Given the description of an element on the screen output the (x, y) to click on. 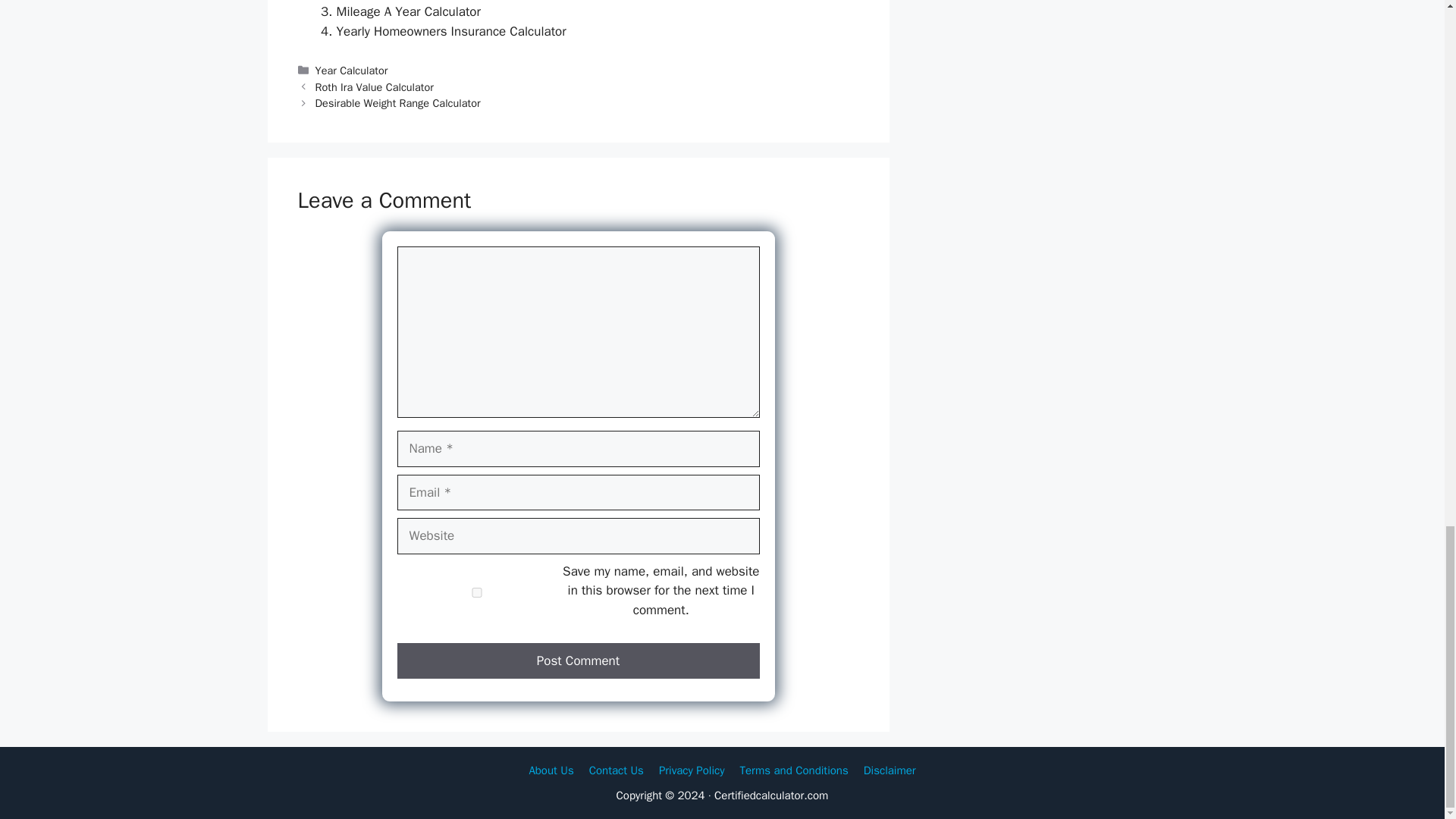
Mileage A Year Calculator (408, 11)
Privacy Policy (692, 770)
About Us (550, 770)
Mileage A Year Calculator (408, 11)
Desirable Weight Range Calculator (397, 102)
Year Calculator (351, 69)
Roth Ira Value Calculator (374, 87)
Post Comment (578, 660)
